Given the description of an element on the screen output the (x, y) to click on. 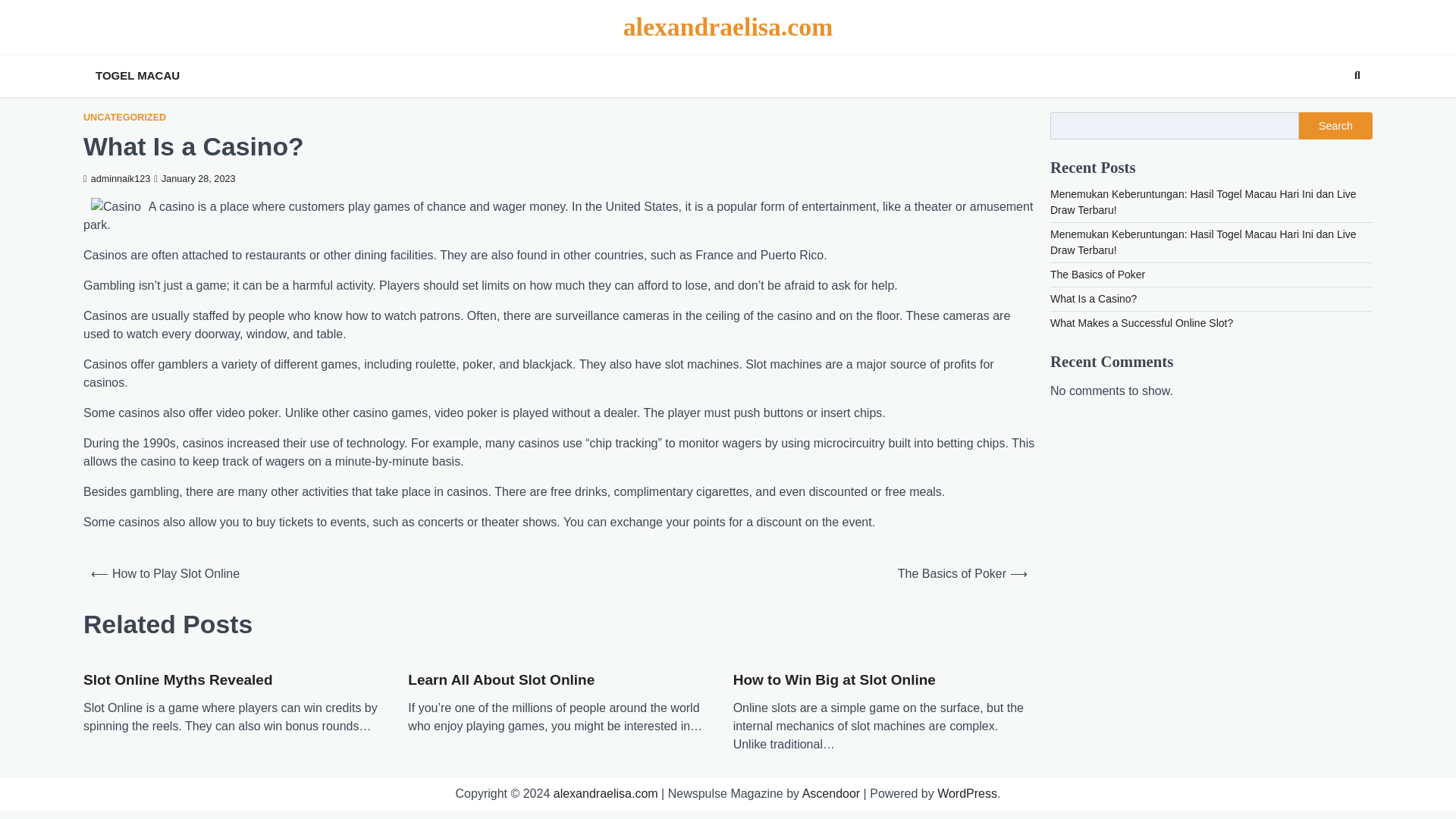
UNCATEGORIZED (123, 117)
TOGEL MACAU (137, 76)
Search (1356, 75)
How to Win Big at Slot Online (834, 680)
January 28, 2023 (194, 178)
The Basics of Poker (1096, 274)
Ascendoor (831, 793)
Learn All About Slot Online (500, 680)
adminnaik123 (115, 178)
